Given the description of an element on the screen output the (x, y) to click on. 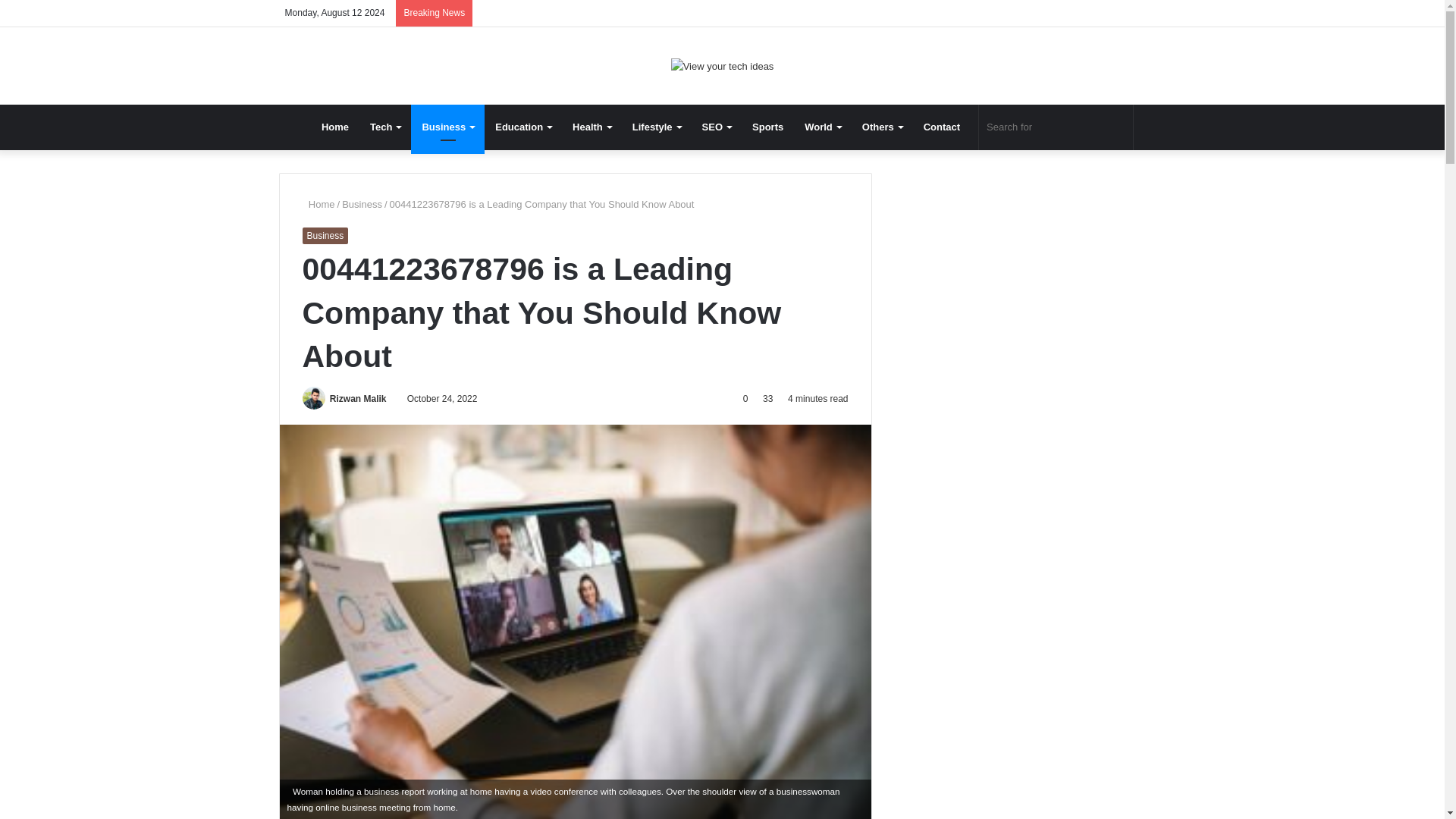
Search for (1055, 126)
Health (591, 126)
Sports (767, 126)
SEO (716, 126)
Others (881, 126)
Lifestyle (656, 126)
Business (447, 126)
World (822, 126)
View your tech ideas (722, 65)
Education (523, 126)
